Given the description of an element on the screen output the (x, y) to click on. 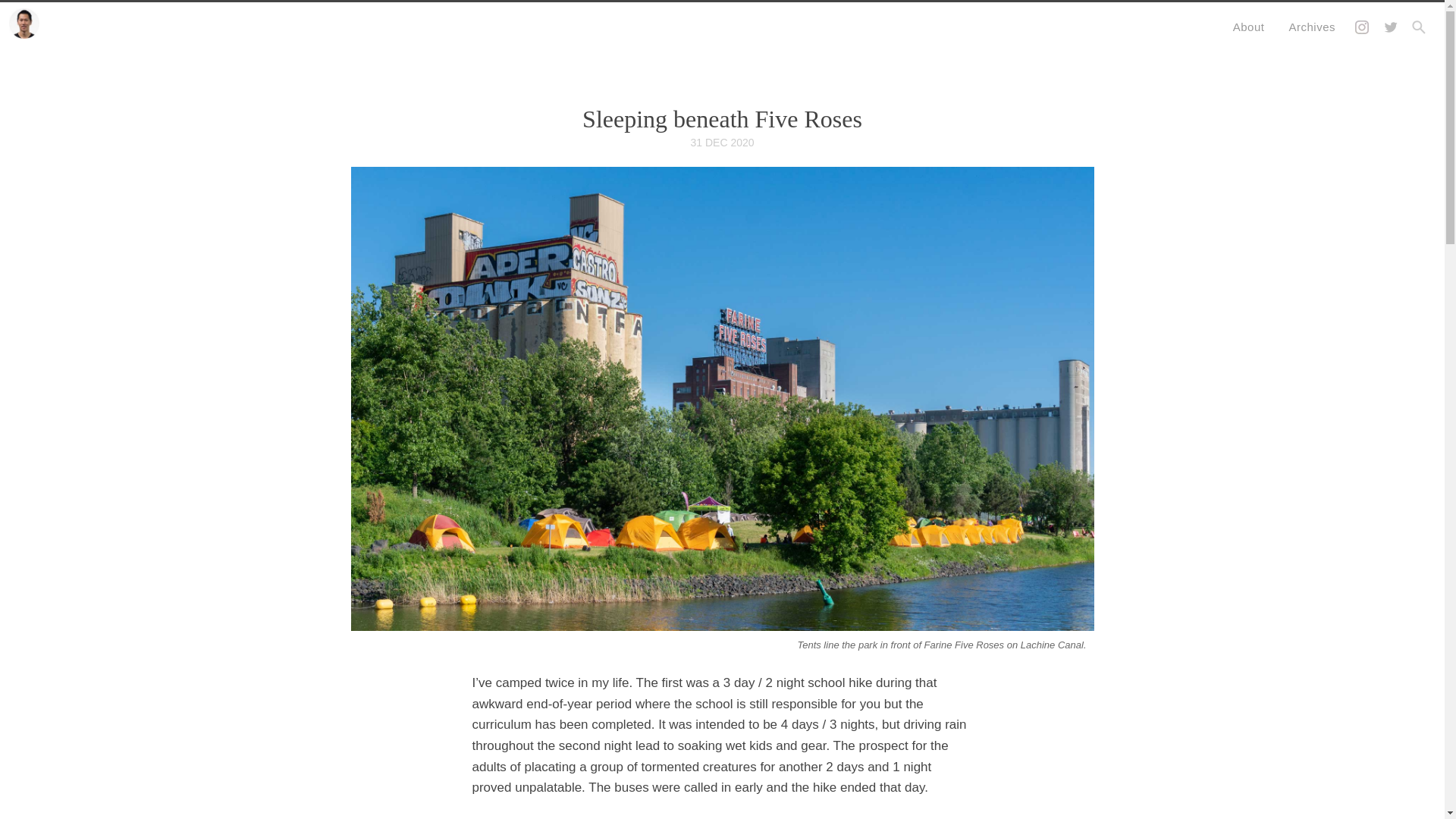
Archives (1312, 27)
About (1248, 27)
Sleeping beneath Five Roses (721, 118)
Permanent Link to Sleeping beneath Five Roses (721, 118)
